Given the description of an element on the screen output the (x, y) to click on. 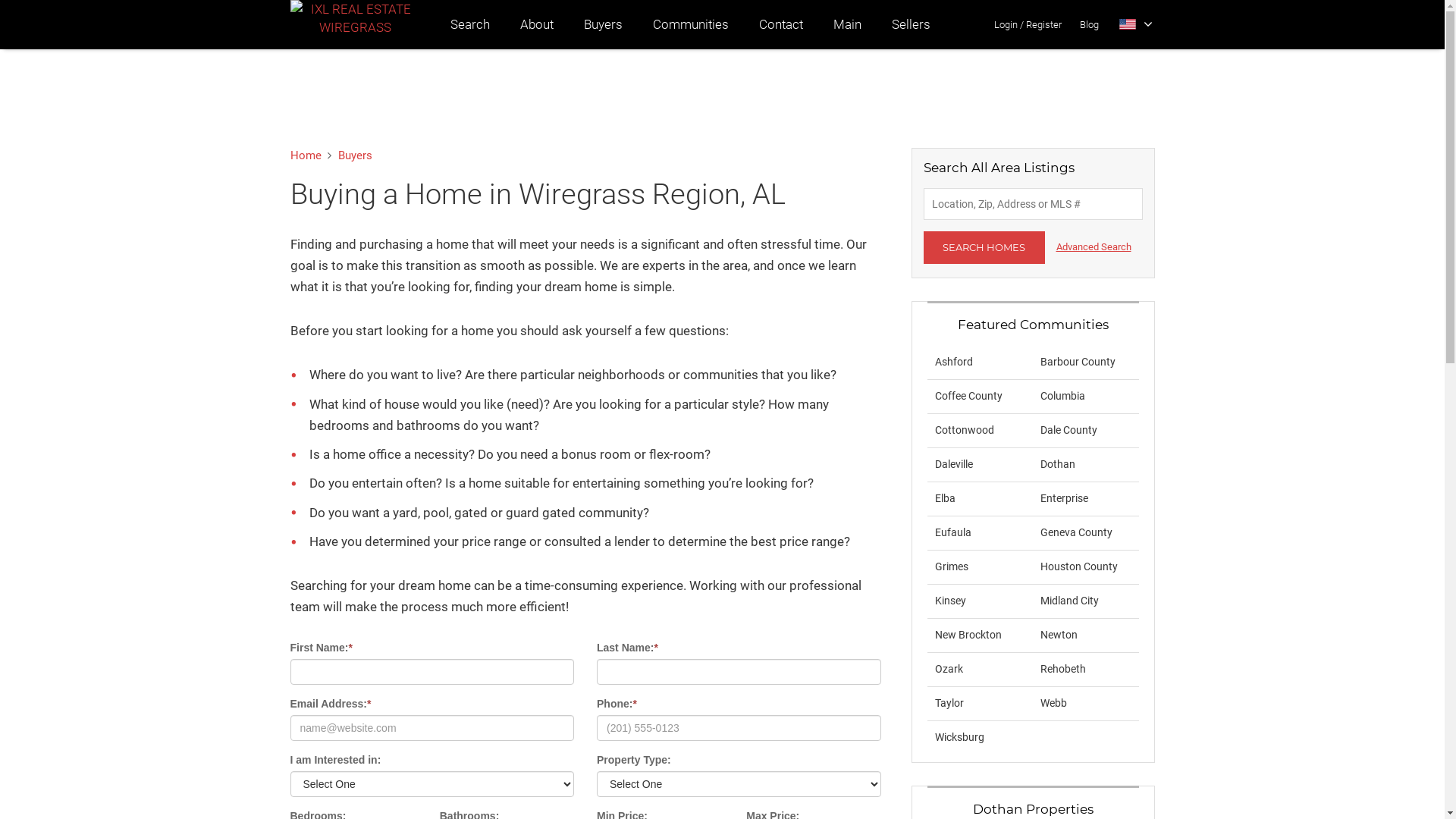
Cottonwood Element type: text (963, 429)
Webb Element type: text (1053, 702)
Dothan Element type: text (1057, 464)
Columbia Element type: text (1062, 395)
About Element type: text (536, 24)
Eufaula Element type: text (952, 532)
Midland City Element type: text (1069, 600)
Ozark Element type: text (948, 668)
Barbour County Element type: text (1077, 361)
Grimes Element type: text (950, 566)
Home Element type: text (304, 155)
Dale County Element type: text (1068, 429)
Sellers Element type: text (910, 24)
Register Element type: text (1042, 24)
Contact Element type: text (780, 24)
Buyers Element type: text (355, 155)
Taylor Element type: text (948, 702)
Buyers Element type: text (602, 24)
Wicksburg Element type: text (958, 737)
Blog Element type: text (1088, 24)
Coffee County Element type: text (967, 395)
Main Element type: text (846, 24)
Communities Element type: text (690, 24)
Enter Location, Zip, Address or MLS # Element type: hover (1032, 203)
Rehobeth Element type: text (1062, 668)
SEARCH HOMES Element type: text (983, 247)
Ashford Element type: text (953, 361)
Enterprise Element type: text (1064, 498)
Daleville Element type: text (953, 464)
Kinsey Element type: text (949, 600)
Select Language Element type: hover (1135, 24)
Elba Element type: text (944, 498)
Search Element type: text (470, 24)
Geneva County Element type: text (1076, 532)
Houston County Element type: text (1078, 566)
New Brockton Element type: text (967, 634)
Advanced Search Element type: text (1092, 247)
Newton Element type: text (1058, 634)
Login/ Element type: text (1009, 24)
